Given the description of an element on the screen output the (x, y) to click on. 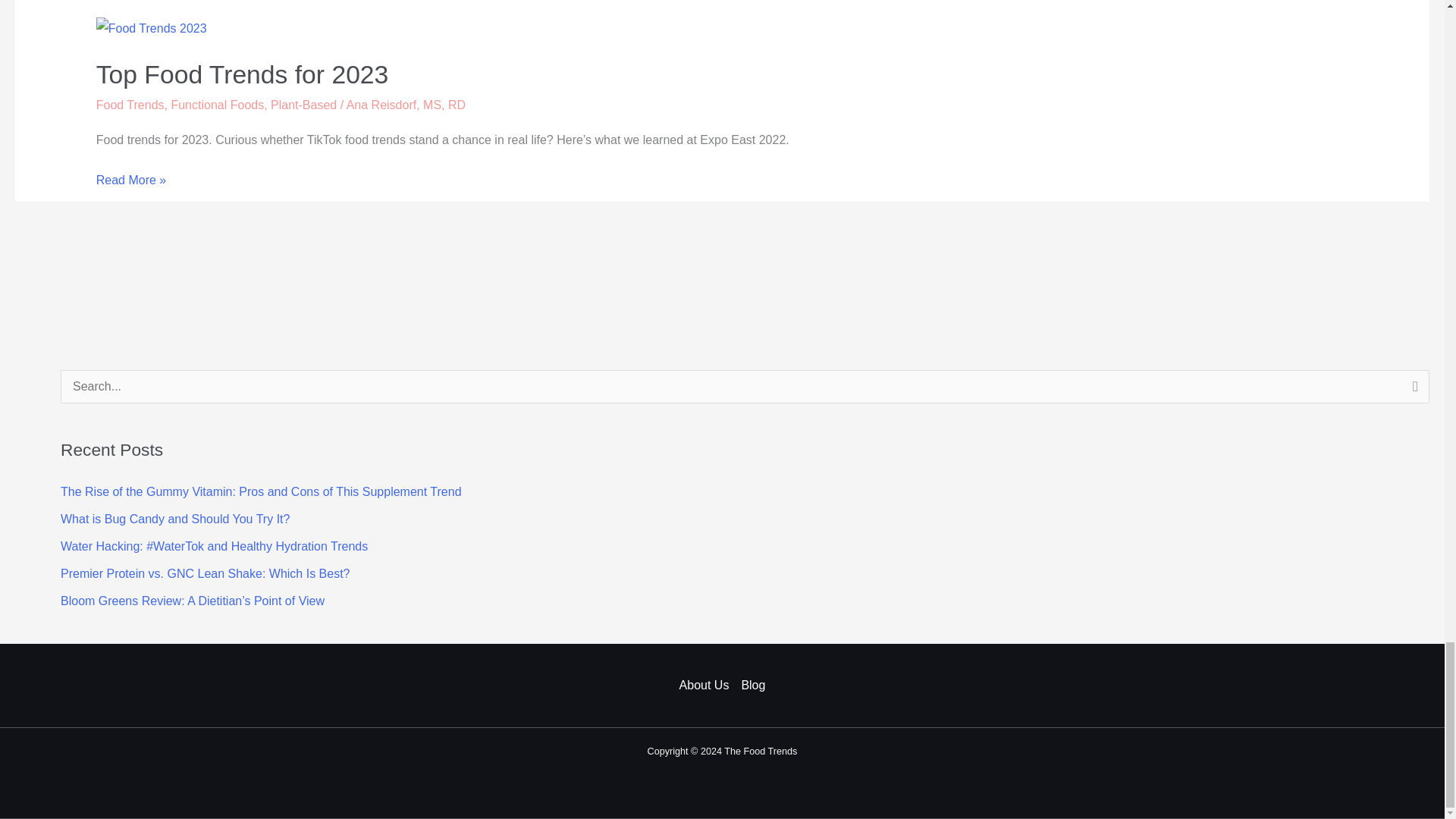
View all posts by Ana Reisdorf, MS, RD (405, 104)
Food Trends (130, 104)
Ana Reisdorf, MS, RD (405, 104)
Top Food Trends for 2023 (242, 74)
Plant-Based (303, 104)
Functional Foods (216, 104)
